Given the description of an element on the screen output the (x, y) to click on. 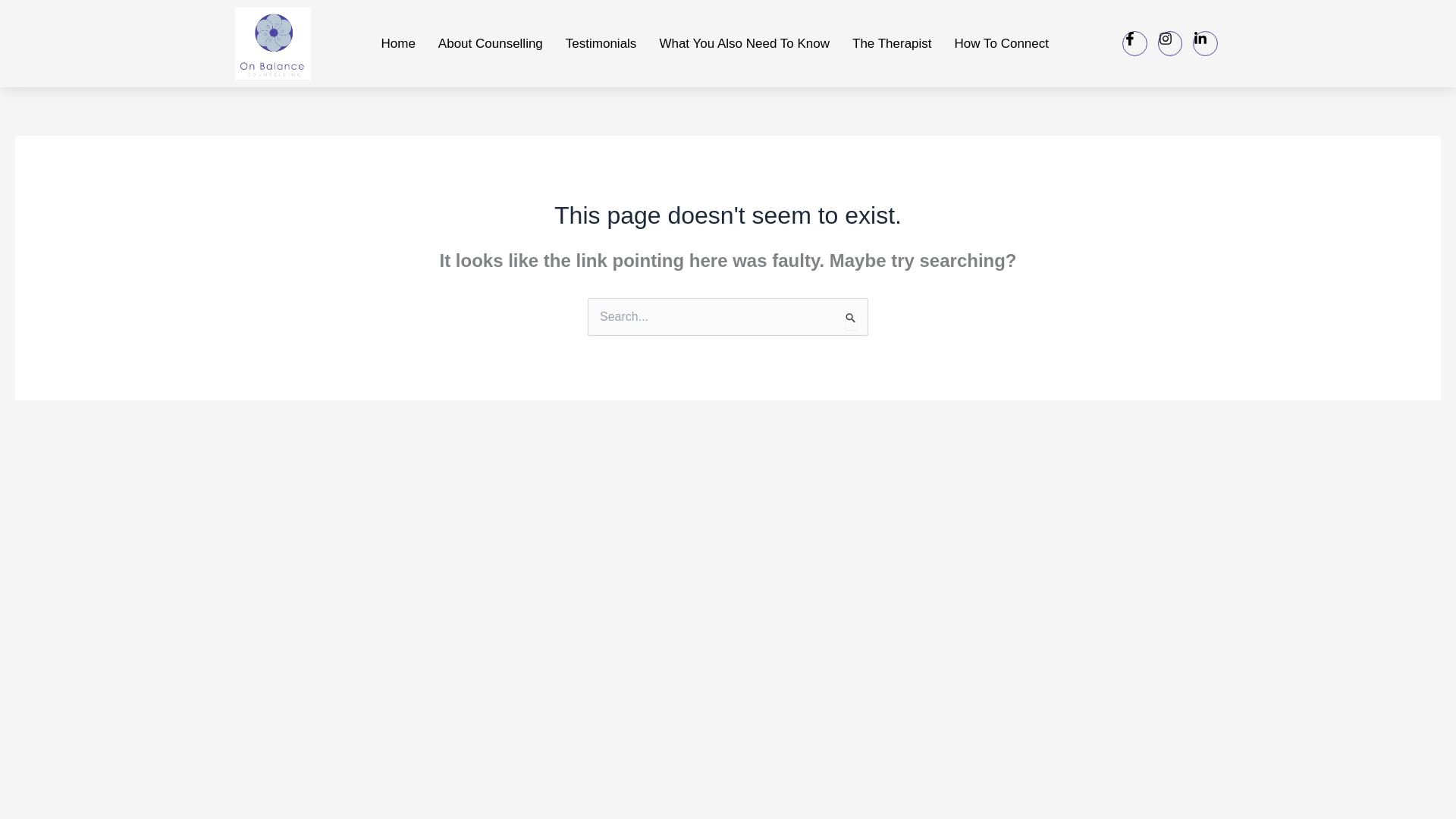
Linkedin-in (1204, 43)
How To Connect (1001, 43)
Home (397, 43)
Instagram (1169, 43)
About Counselling (490, 43)
Testimonials (600, 43)
What You Also Need To Know (744, 43)
Facebook-f (1134, 43)
The Therapist (892, 43)
